Given the description of an element on the screen output the (x, y) to click on. 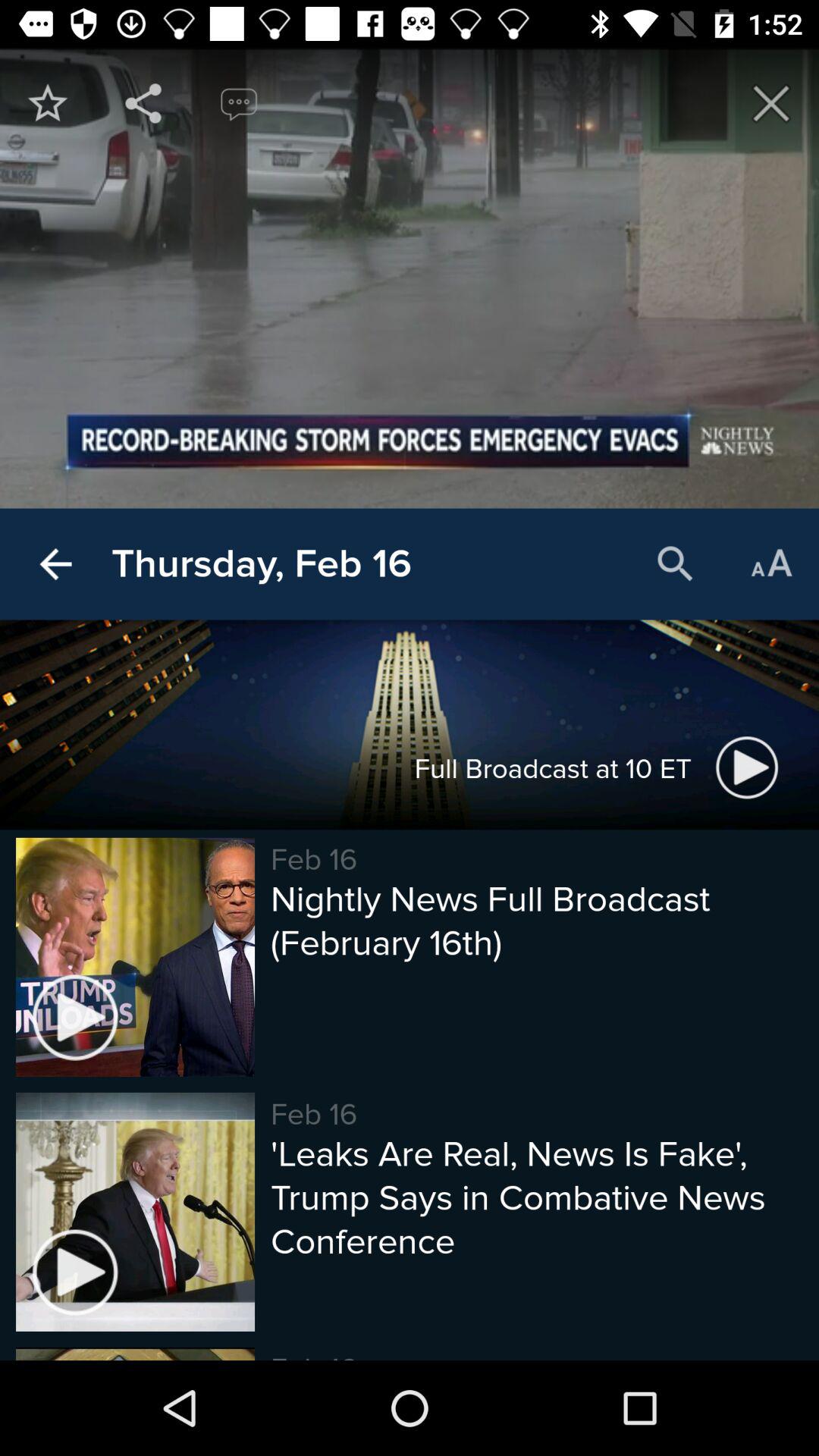
share the video (143, 103)
